Given the description of an element on the screen output the (x, y) to click on. 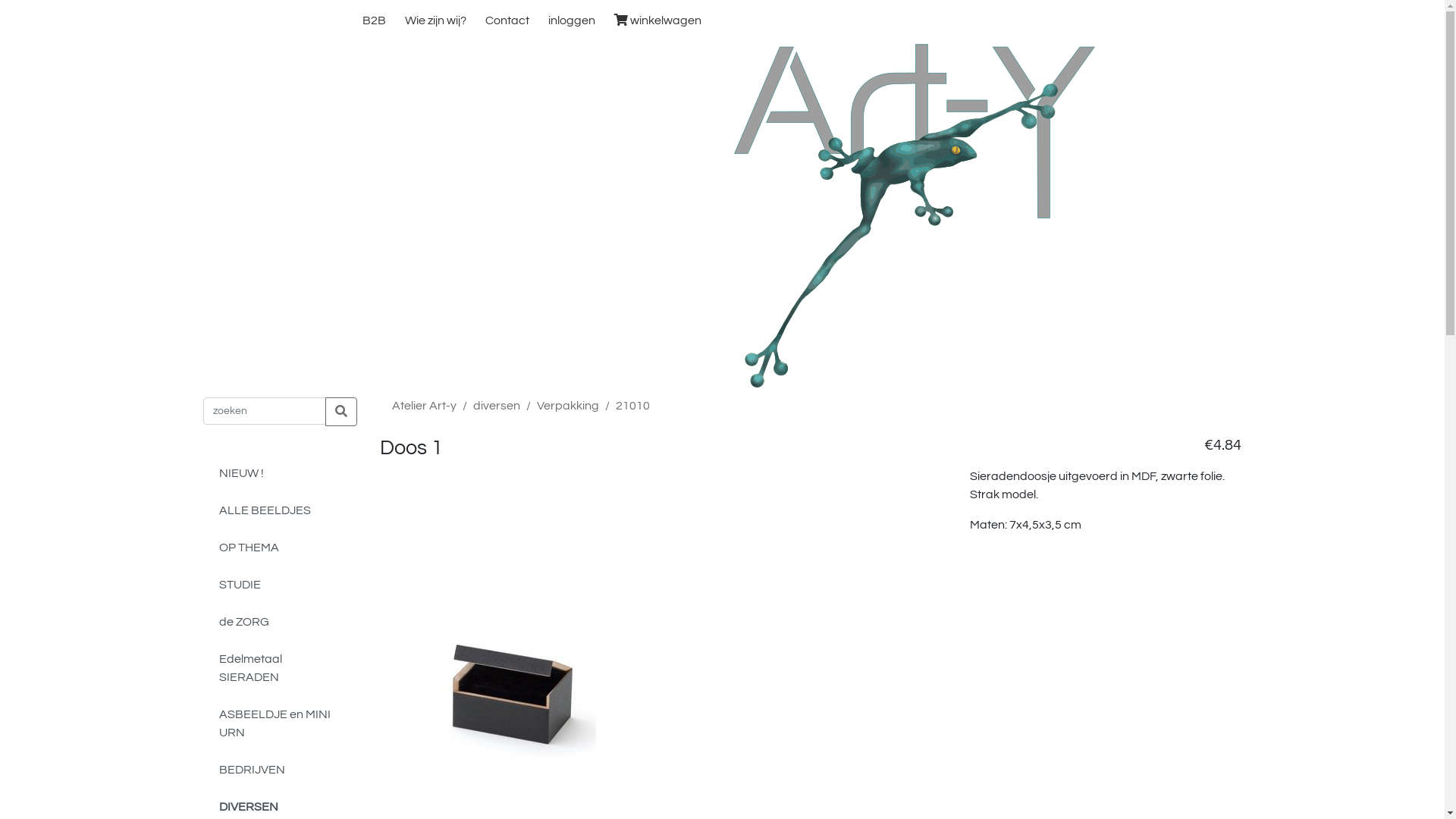
Atelier Art-y Element type: text (424, 405)
OP THEMA Element type: text (279, 547)
inloggen Element type: text (571, 20)
Wie zijn wij? Element type: text (434, 20)
Edelmetaal SIERADEN Element type: text (279, 668)
Verpakking Element type: text (567, 405)
BEDRIJVEN Element type: text (279, 769)
winkelwagen Element type: text (656, 20)
Contact Element type: text (506, 20)
ALLE BEELDJES Element type: text (279, 510)
NIEUW ! Element type: text (279, 473)
21010 Element type: text (632, 405)
diversen Element type: text (496, 405)
Atelier Art-y Element type: hover (914, 215)
de ZORG Element type: text (279, 621)
STUDIE Element type: text (279, 584)
B2B Element type: text (373, 20)
ASBEELDJE en MINI URN Element type: text (279, 723)
